Given the description of an element on the screen output the (x, y) to click on. 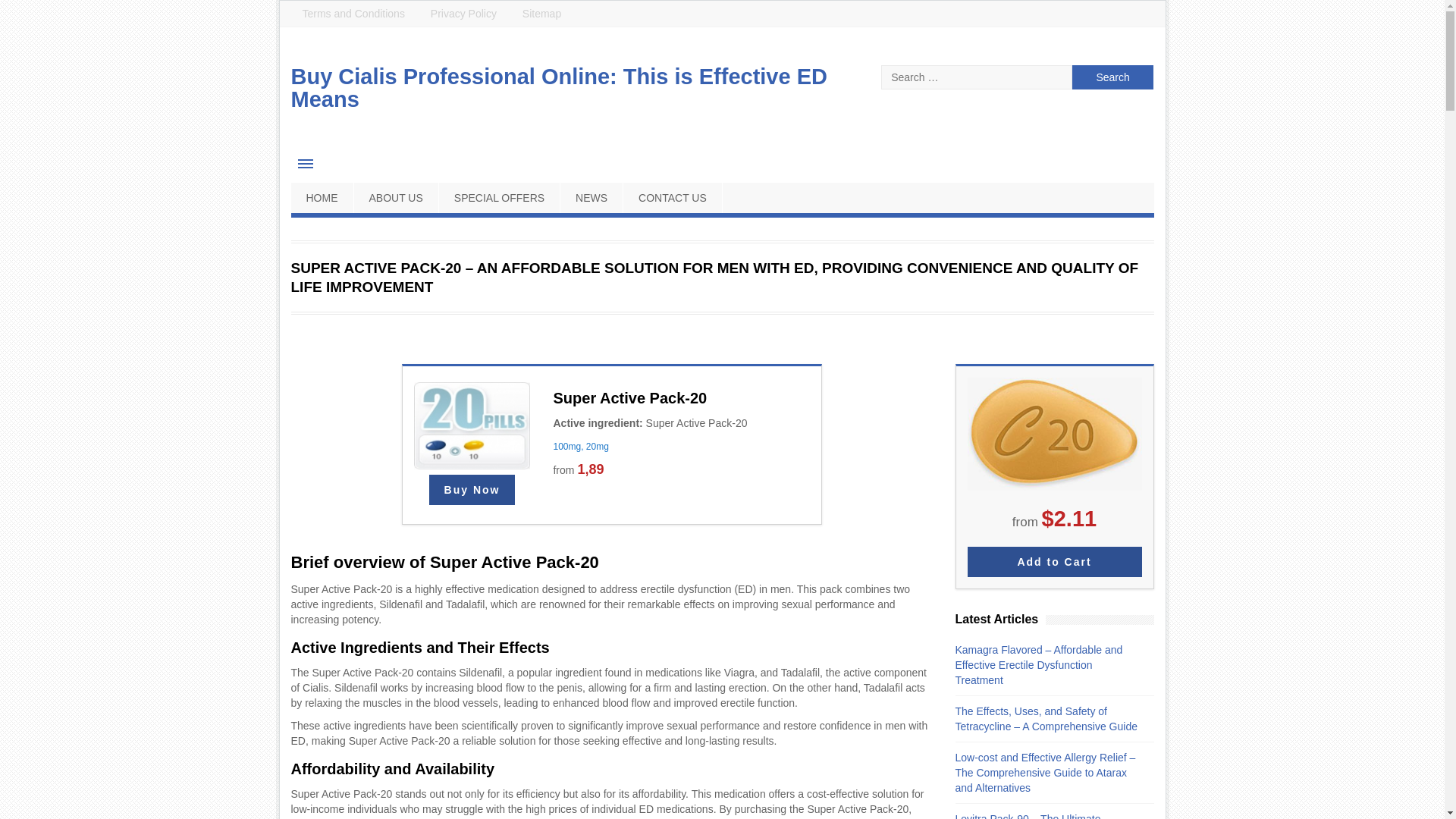
ABOUT US (395, 197)
Buy Now (472, 490)
Buy Cialis Professional Online: This is Effective ED Means (559, 87)
Sitemap (541, 13)
Cialis Professional (1053, 562)
CONTACT US (672, 197)
NEWS (591, 197)
Buy Cialis Professional Online: This is Effective ED Means (559, 87)
Terms and Conditions (353, 13)
Menu (306, 163)
